Given the description of an element on the screen output the (x, y) to click on. 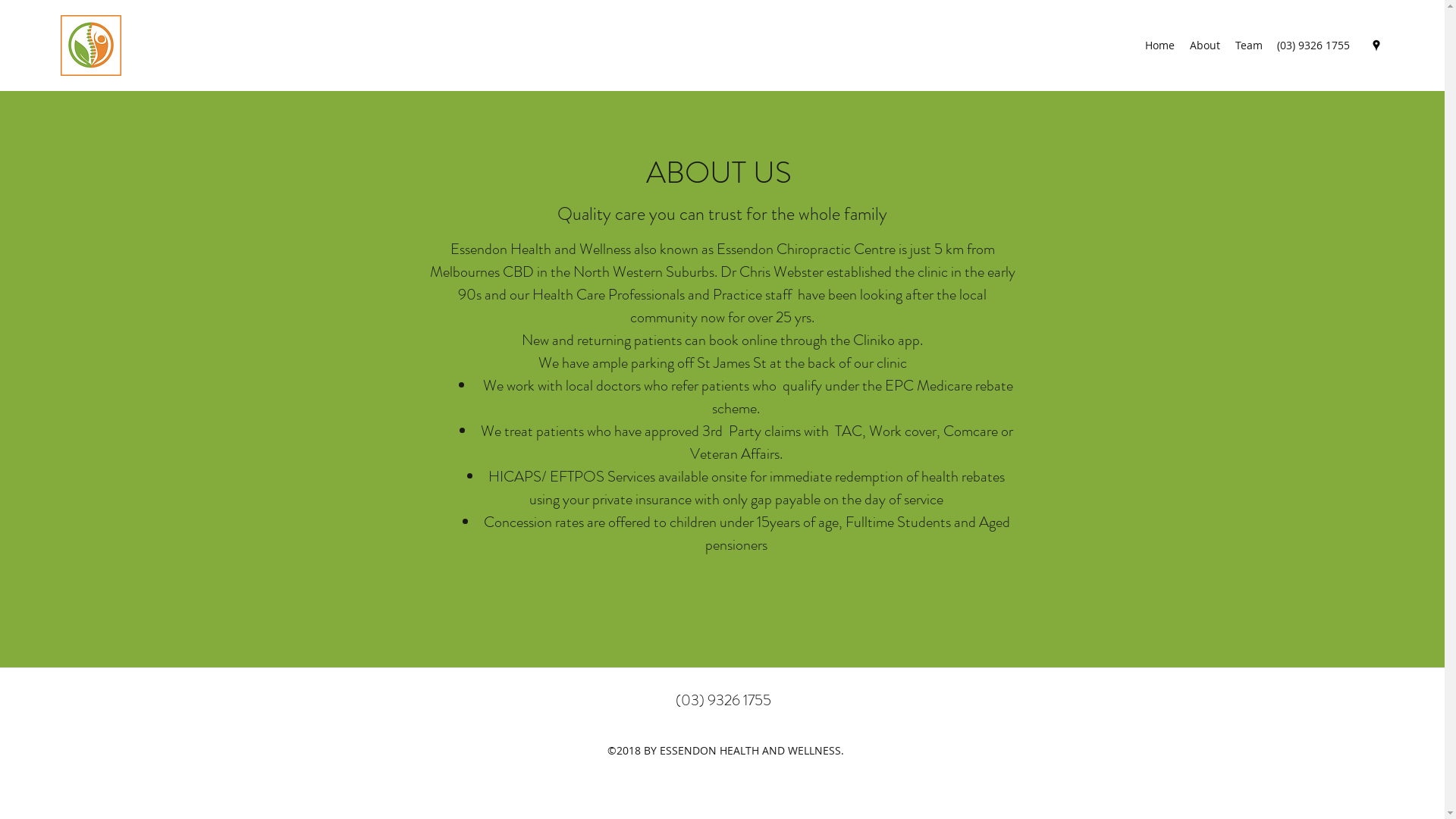
Team Element type: text (1248, 45)
Home Element type: text (1159, 45)
About Element type: text (1204, 45)
